Given the description of an element on the screen output the (x, y) to click on. 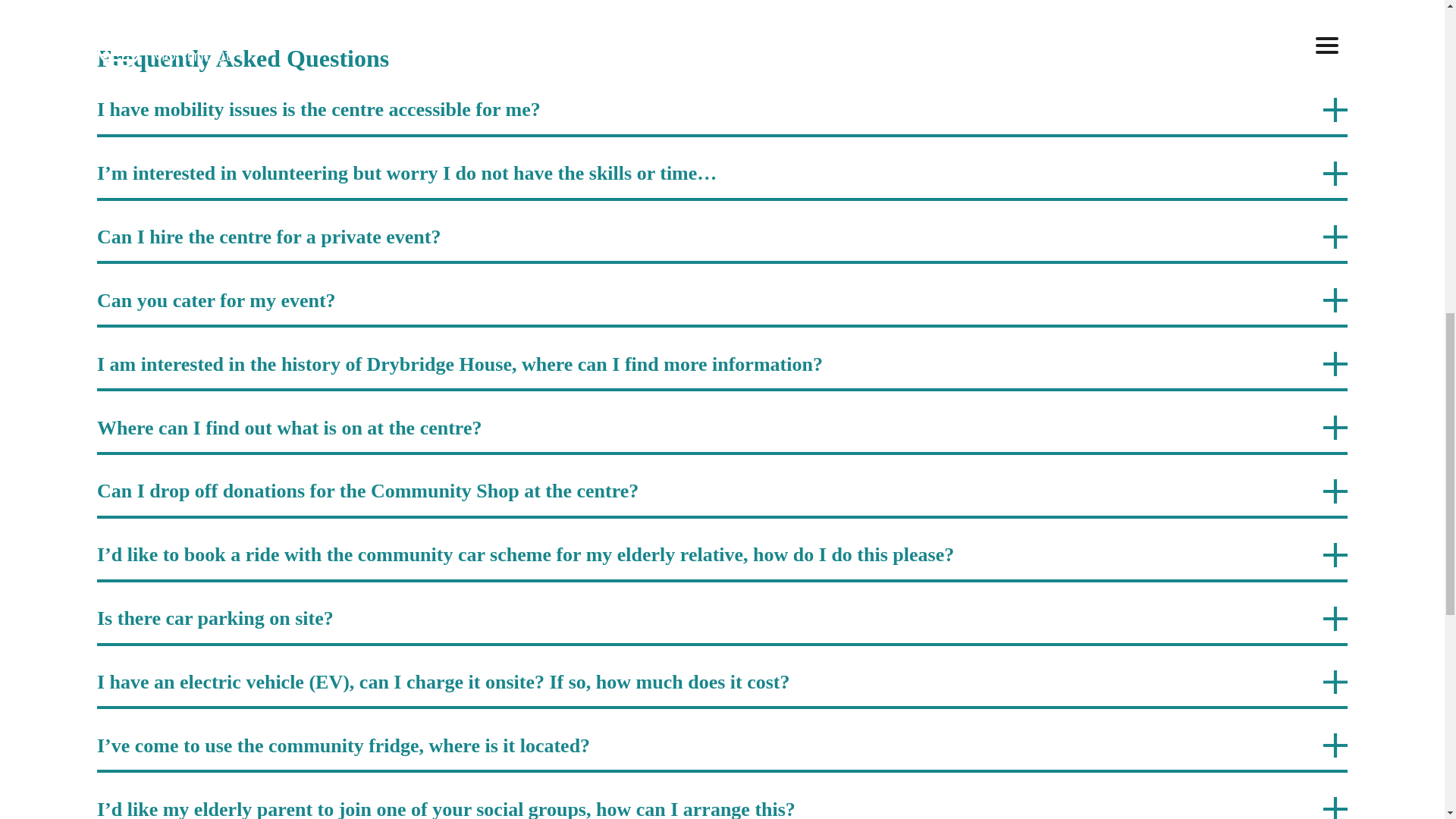
I have mobility issues is the centre accessible for me? (722, 117)
Can I hire the centre for a private event? (722, 244)
Can you cater for my event? (722, 307)
Where can I find out what is on at the centre? (722, 435)
